Given the description of an element on the screen output the (x, y) to click on. 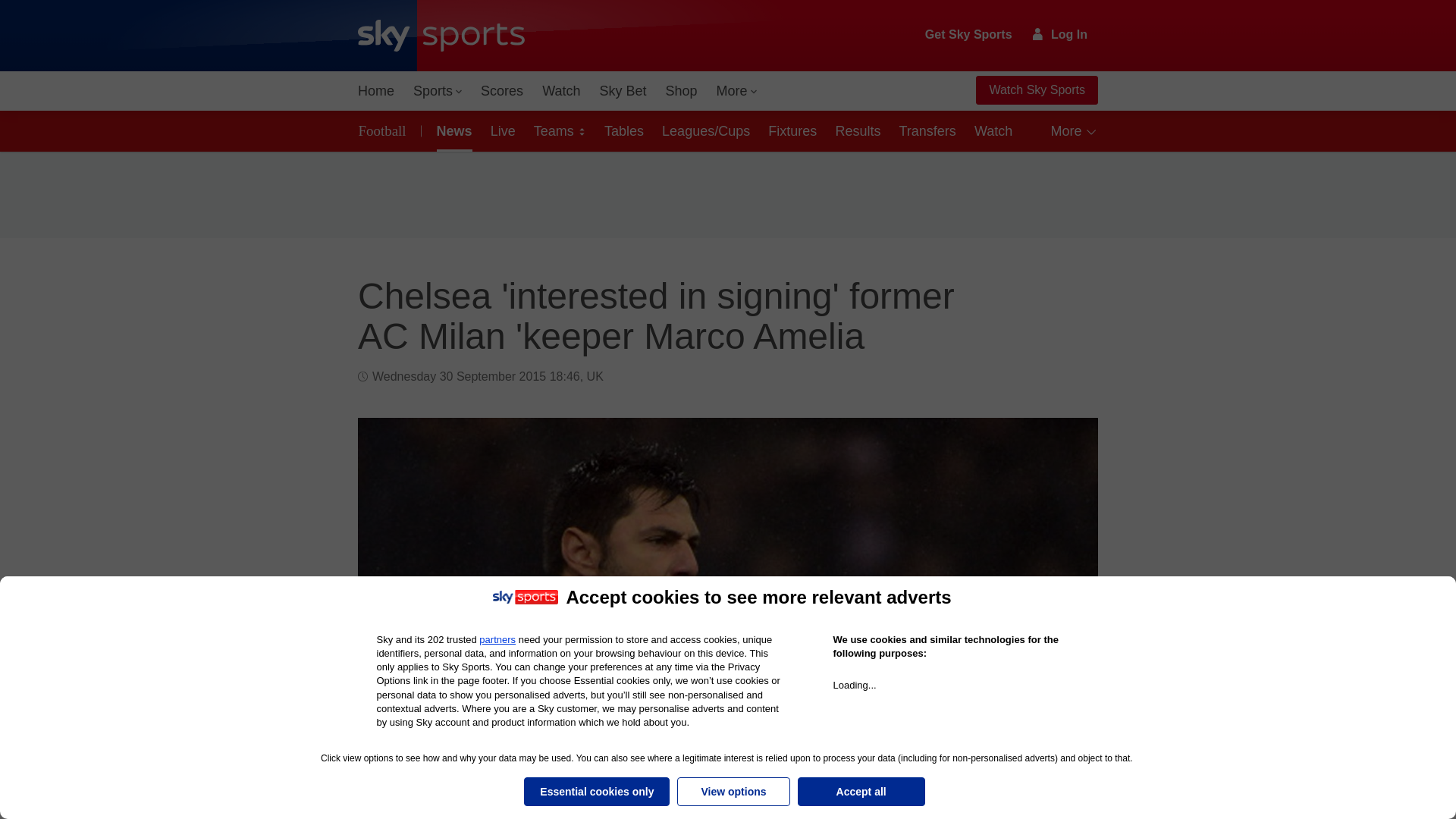
Football (385, 130)
Scores (502, 91)
Shop (681, 91)
Watch Sky Sports (1036, 90)
Log In (1060, 33)
Watch (561, 91)
News (451, 130)
Home (375, 91)
Sports (437, 91)
More (736, 91)
